Given the description of an element on the screen output the (x, y) to click on. 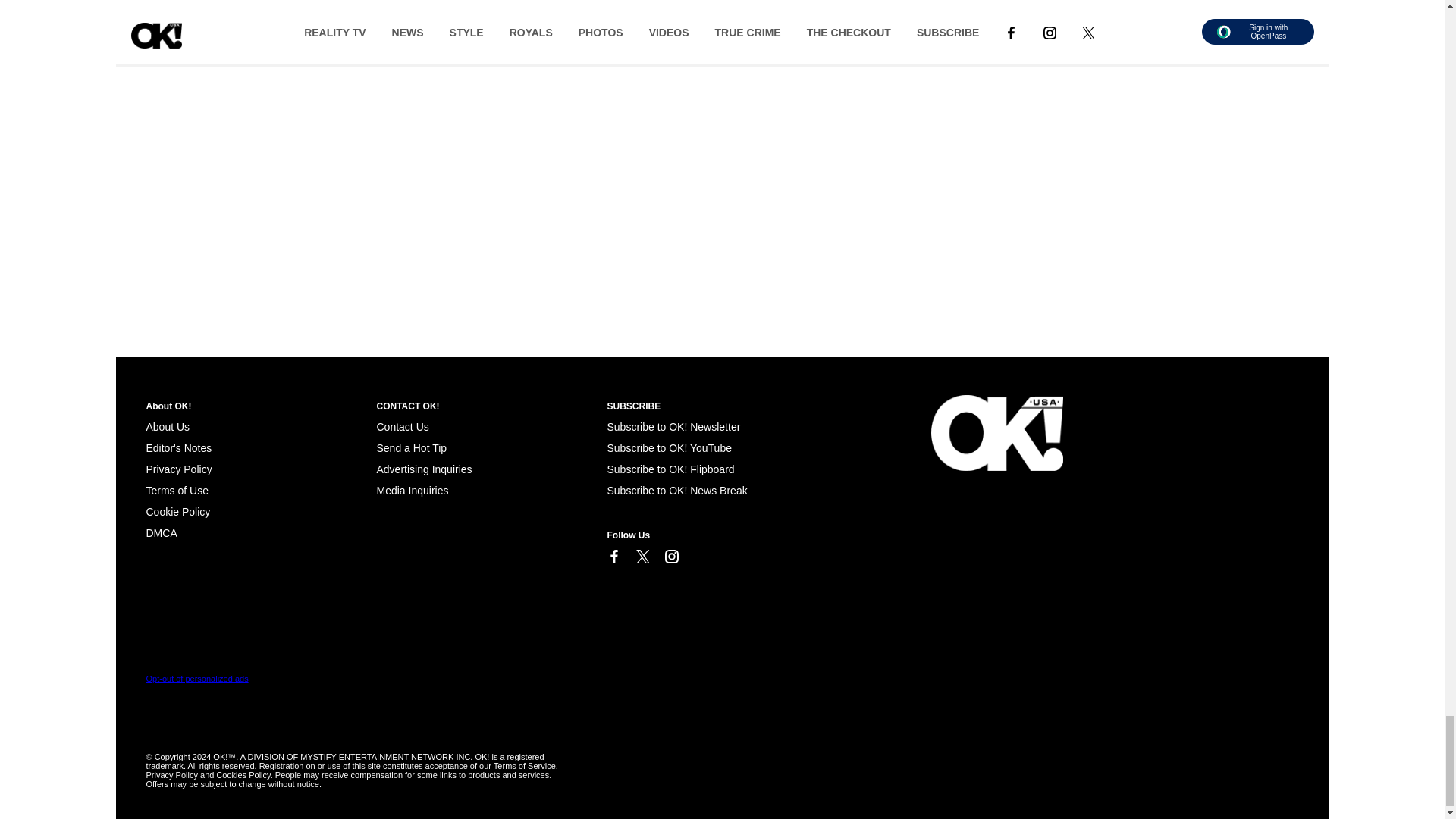
Terms of Use (176, 490)
Send a Hot Tip (410, 448)
Link to Instagram (670, 556)
Editor's Notes (178, 448)
Link to X (641, 556)
Cookie Policy (160, 532)
Contact Us (401, 426)
Advertising Inquiries (423, 469)
Link to Facebook (613, 556)
About Us (167, 426)
Privacy Policy (178, 469)
Cookie Policy (177, 511)
